Given the description of an element on the screen output the (x, y) to click on. 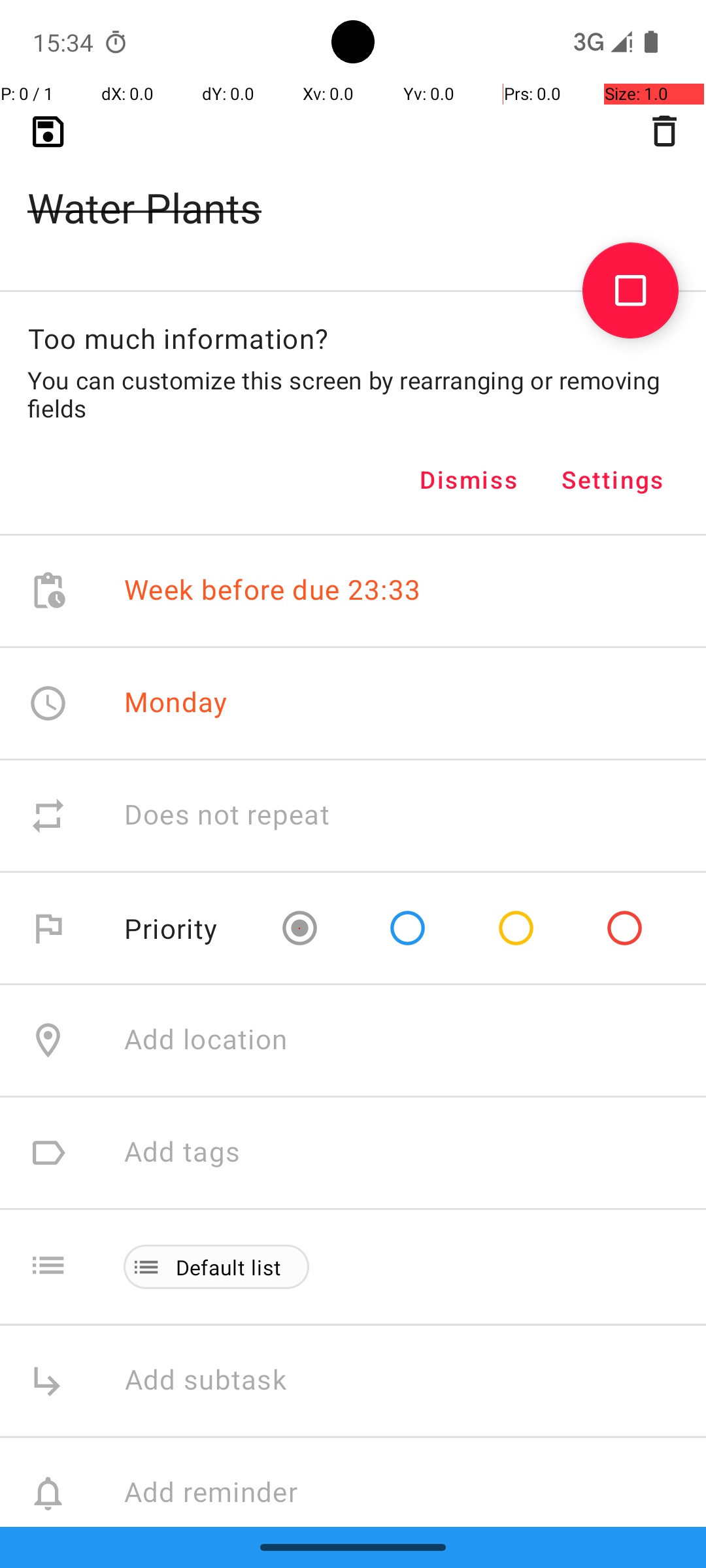
Week before due 23:33 Element type: android.widget.TextView (272, 590)
